Given the description of an element on the screen output the (x, y) to click on. 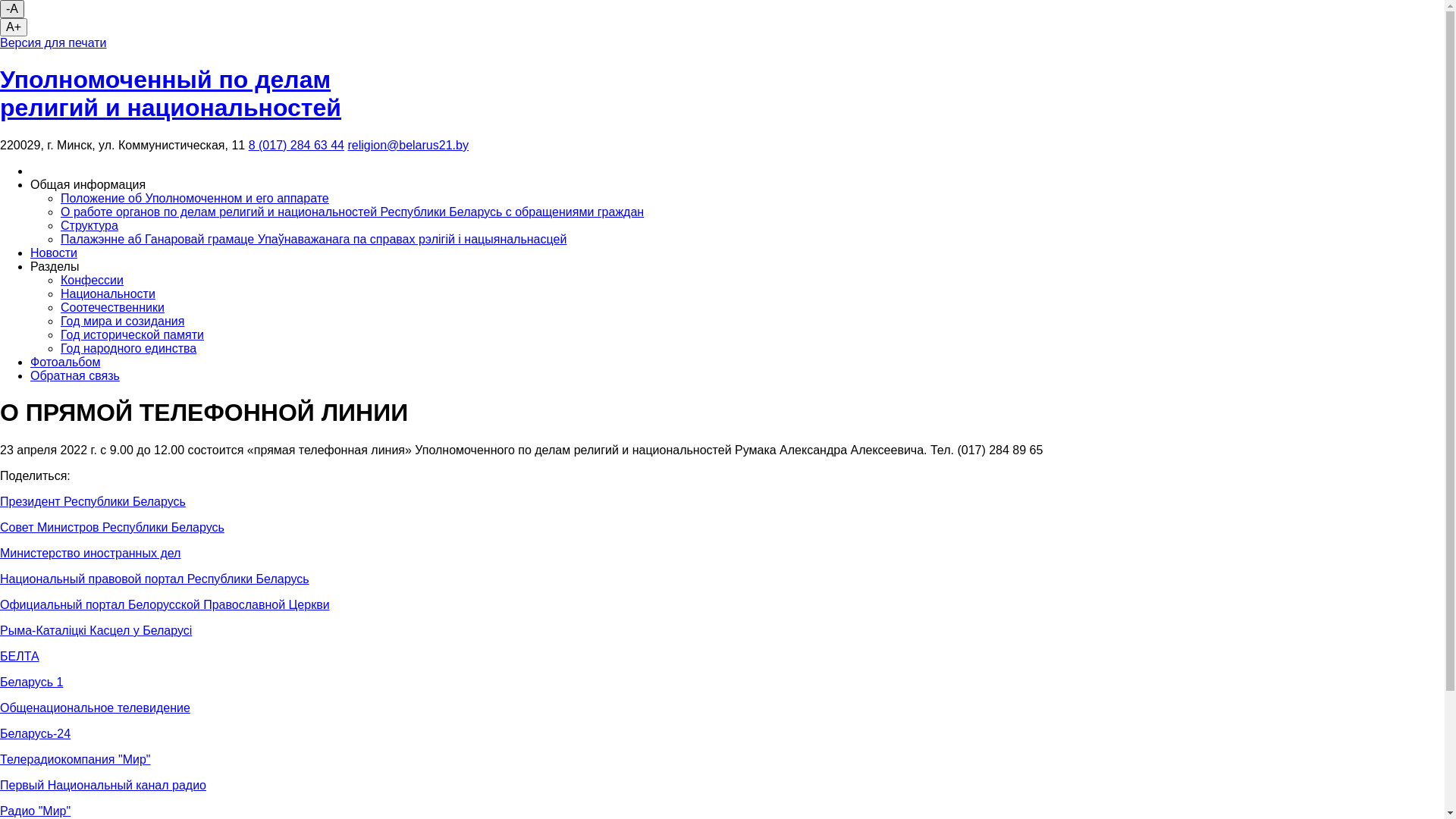
religion@belarus21.by Element type: text (407, 144)
8 (017) 284 63 44 Element type: text (296, 144)
-A Element type: text (12, 9)
